Given the description of an element on the screen output the (x, y) to click on. 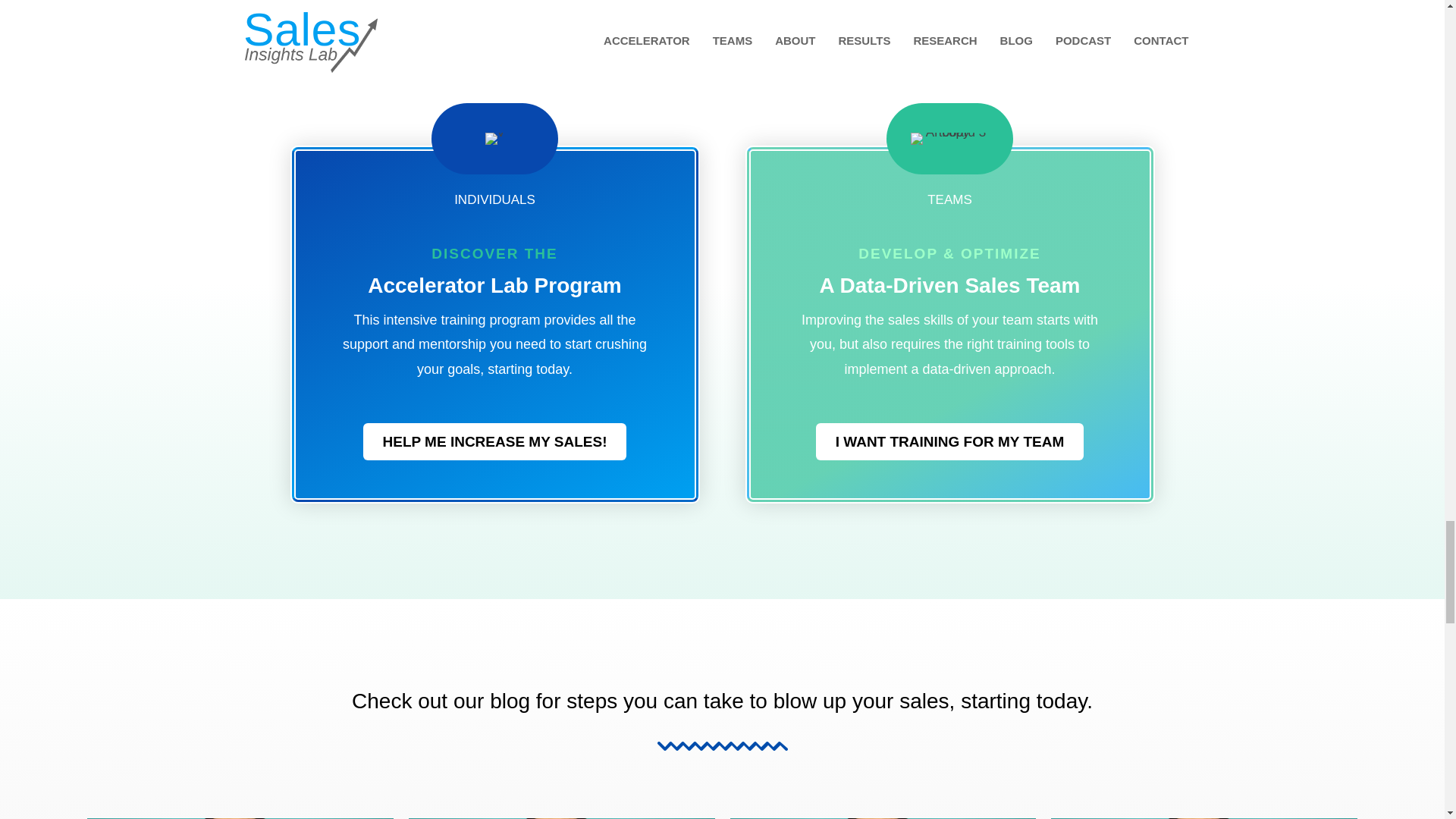
I WANT TRAINING FOR MY TEAM (949, 441)
Artboard 3 copy (949, 138)
HELP ME INCREASE MY SALES! (494, 441)
v (493, 138)
